Given the description of an element on the screen output the (x, y) to click on. 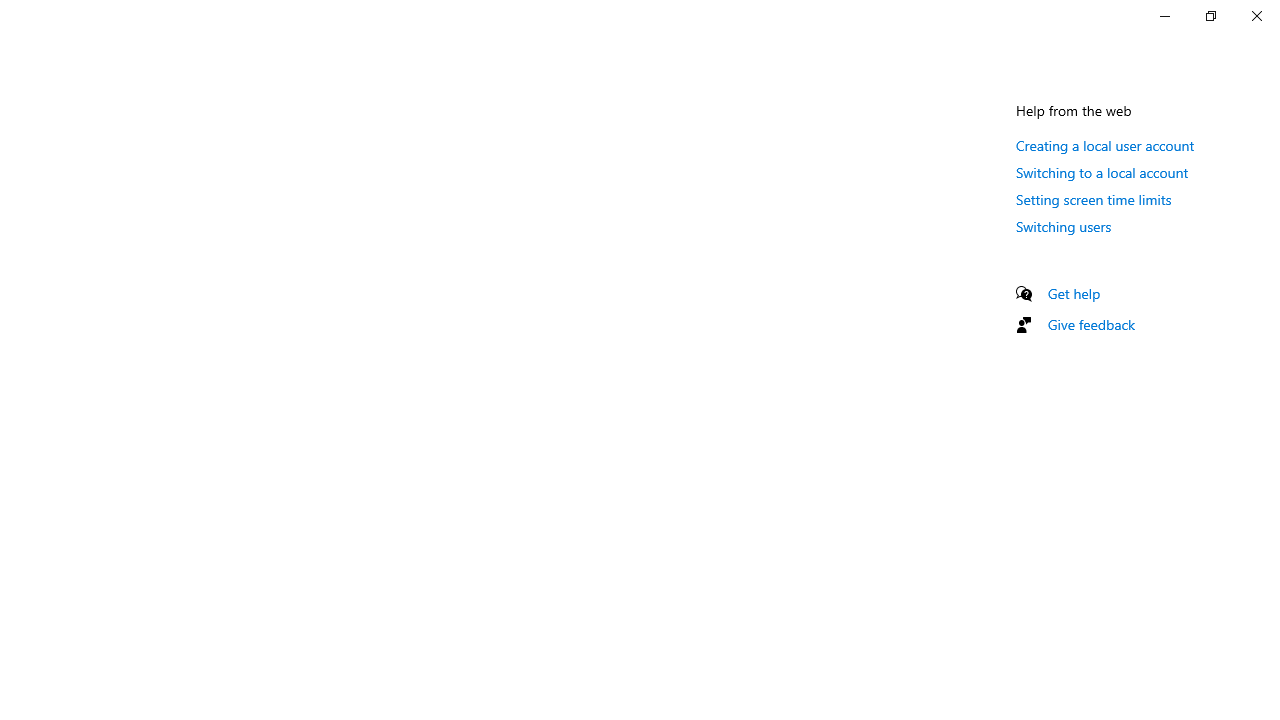
Close Settings (1256, 15)
Give feedback (1091, 324)
Creating a local user account (1105, 145)
Restore Settings (1210, 15)
Switching to a local account (1102, 172)
Get help (1074, 293)
Minimize Settings (1164, 15)
Switching users (1064, 226)
Setting screen time limits (1094, 199)
